Given the description of an element on the screen output the (x, y) to click on. 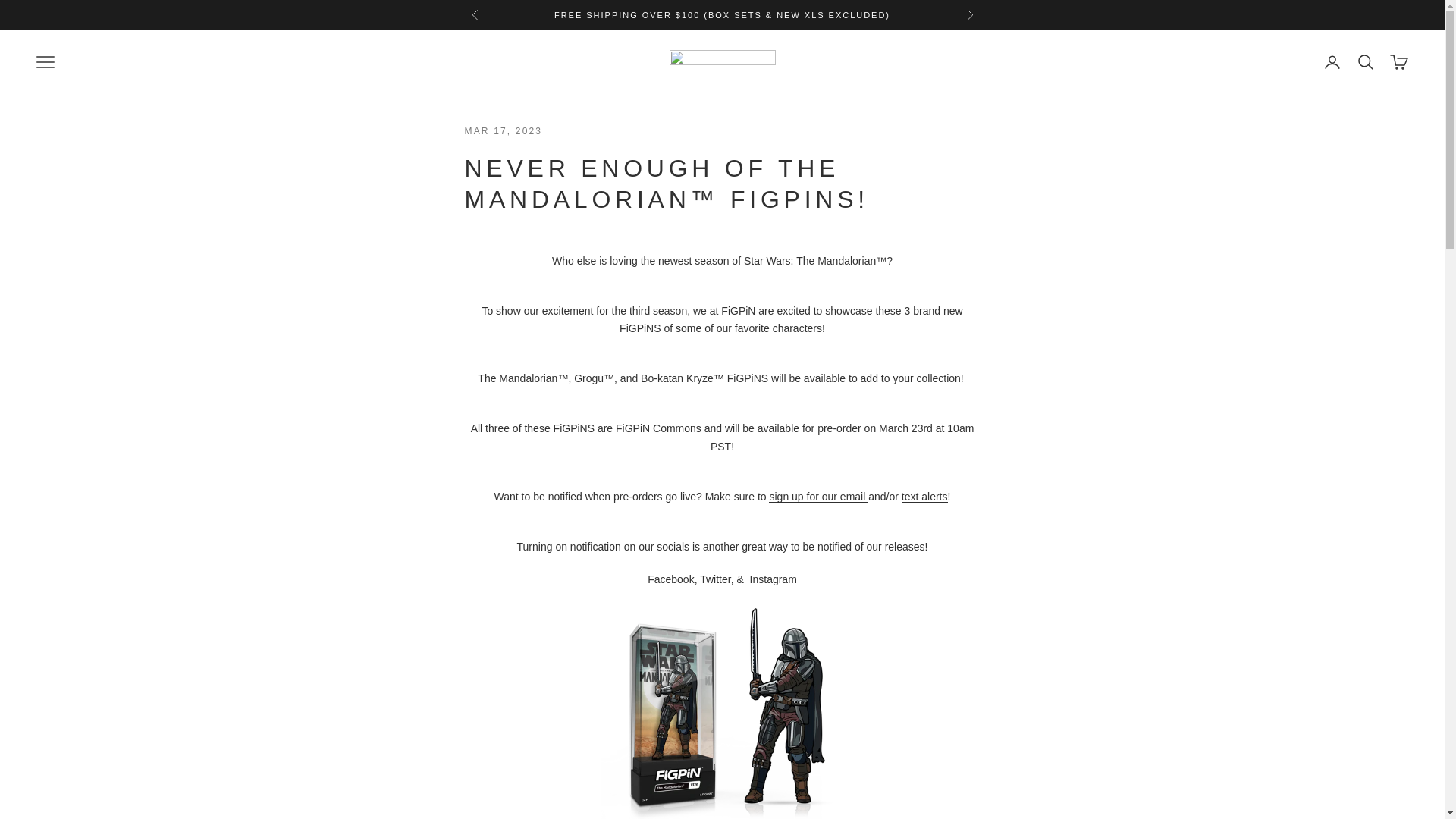
Open account page (1331, 62)
text alerts (924, 496)
Twitter (715, 579)
FiGPiN (721, 61)
Open cart (1398, 62)
Open navigation menu (45, 62)
Facebook (670, 579)
Instagram (772, 579)
sign up for our email (817, 496)
Open search (1365, 62)
